Given the description of an element on the screen output the (x, y) to click on. 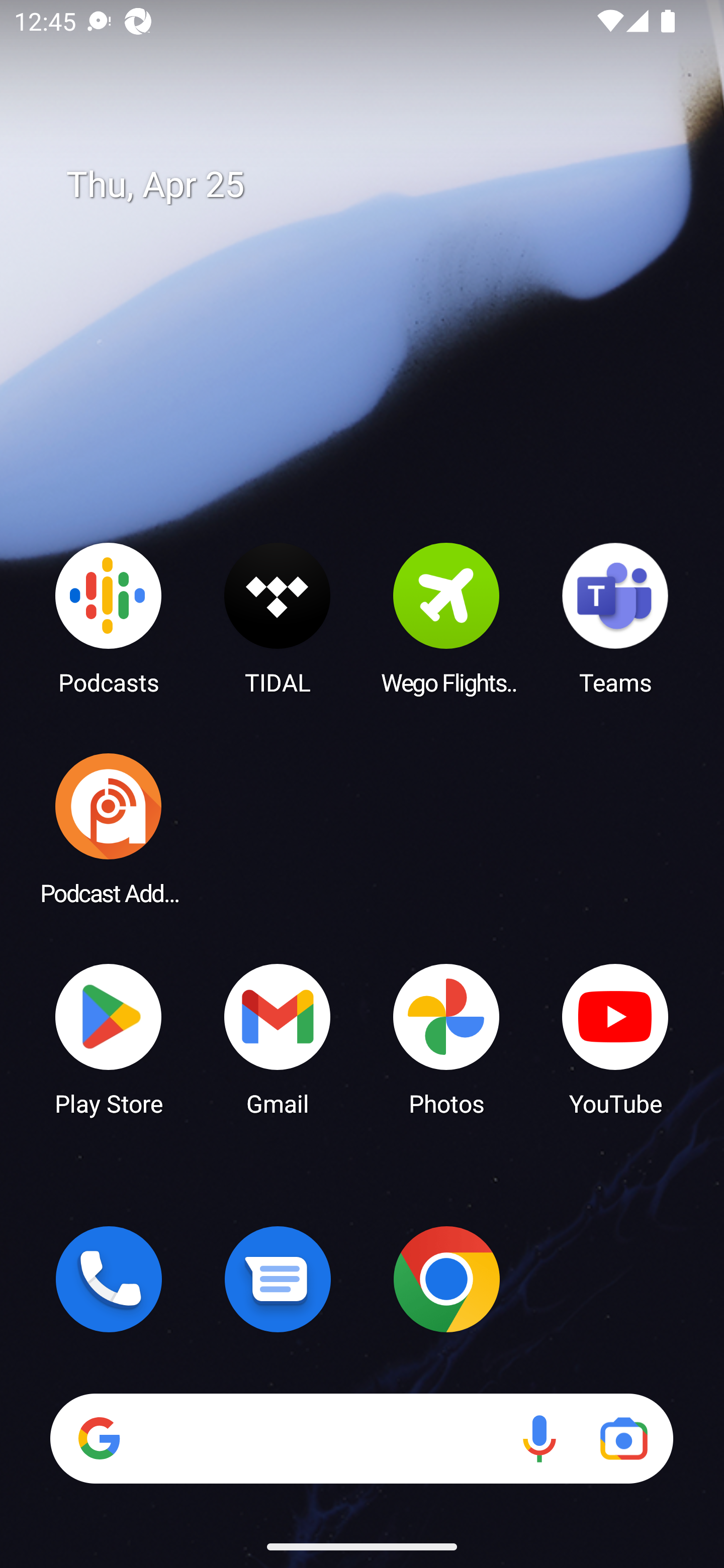
Thu, Apr 25 (375, 184)
Podcasts (108, 617)
TIDAL (277, 617)
Wego Flights & Hotels (445, 617)
Teams (615, 617)
Podcast Addict (108, 828)
Play Store (108, 1038)
Gmail (277, 1038)
Photos (445, 1038)
YouTube (615, 1038)
Phone (108, 1279)
Messages (277, 1279)
Chrome (446, 1279)
Search Voice search Google Lens (361, 1438)
Voice search (539, 1438)
Google Lens (623, 1438)
